Given the description of an element on the screen output the (x, y) to click on. 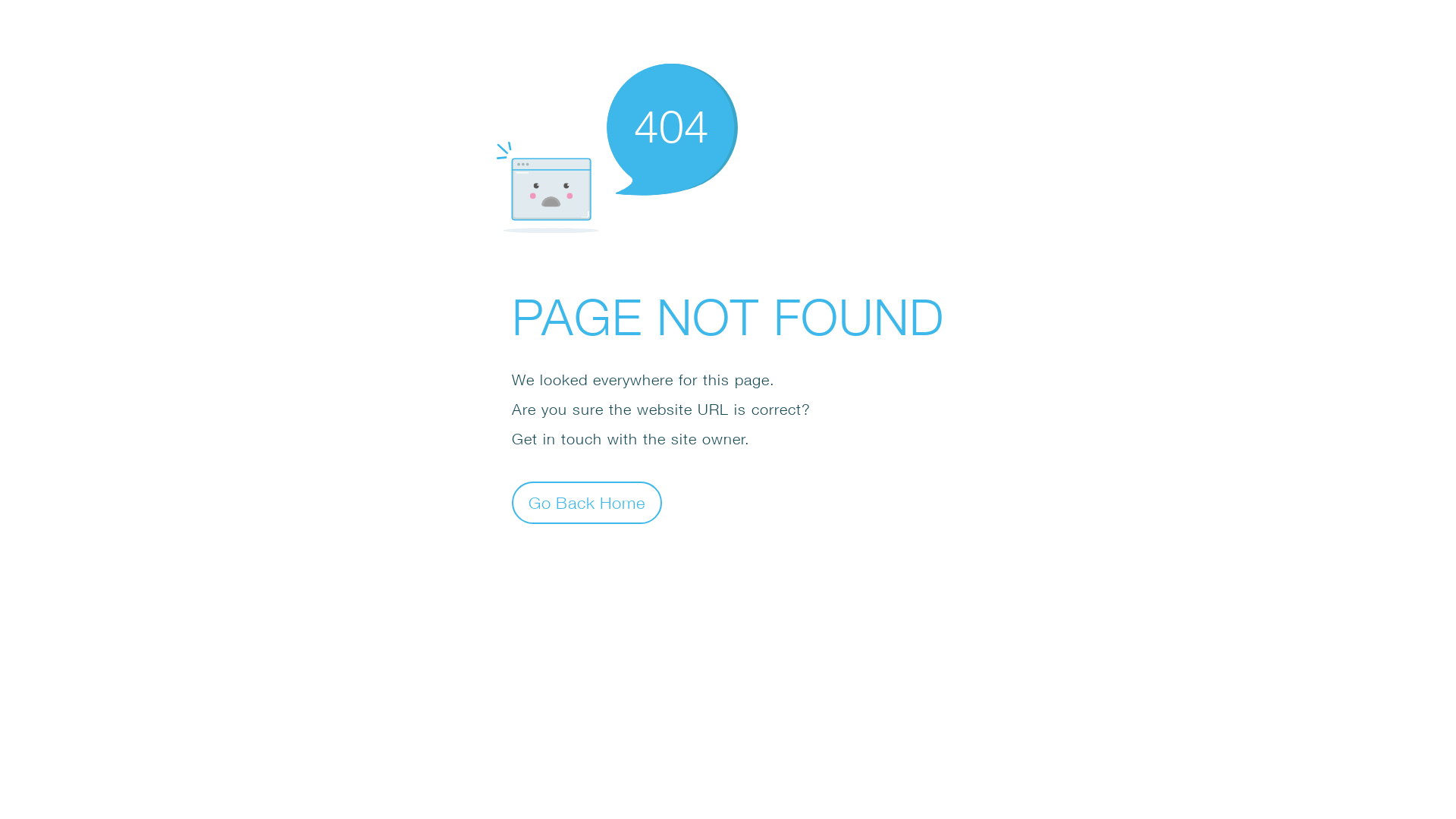
Go Back Home Element type: text (586, 502)
